Given the description of an element on the screen output the (x, y) to click on. 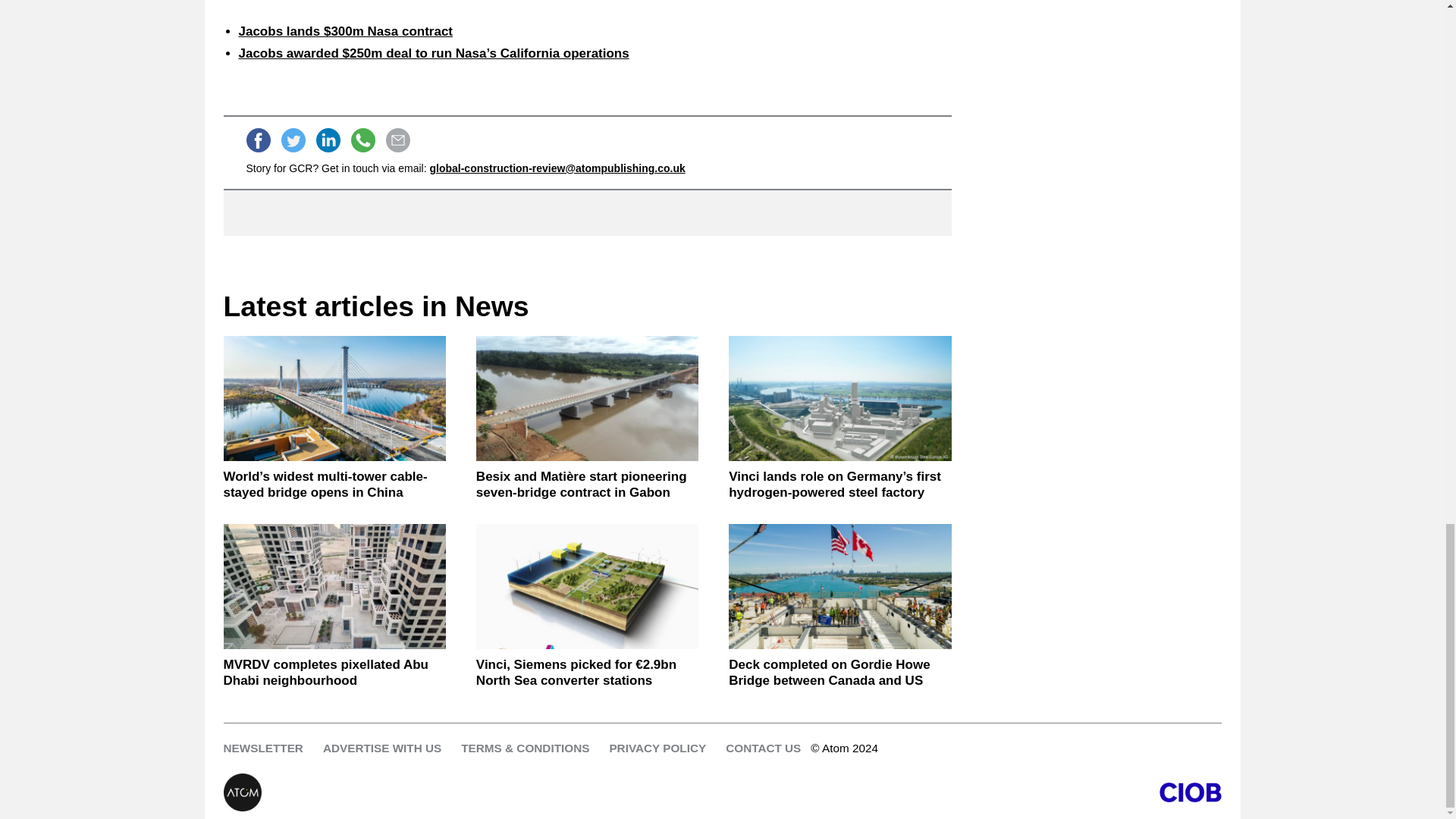
Share on LinkedIn (327, 139)
Share on Facebook (257, 139)
Share on WhatsApp (362, 139)
Tweet (292, 139)
Send email (397, 139)
